Given the description of an element on the screen output the (x, y) to click on. 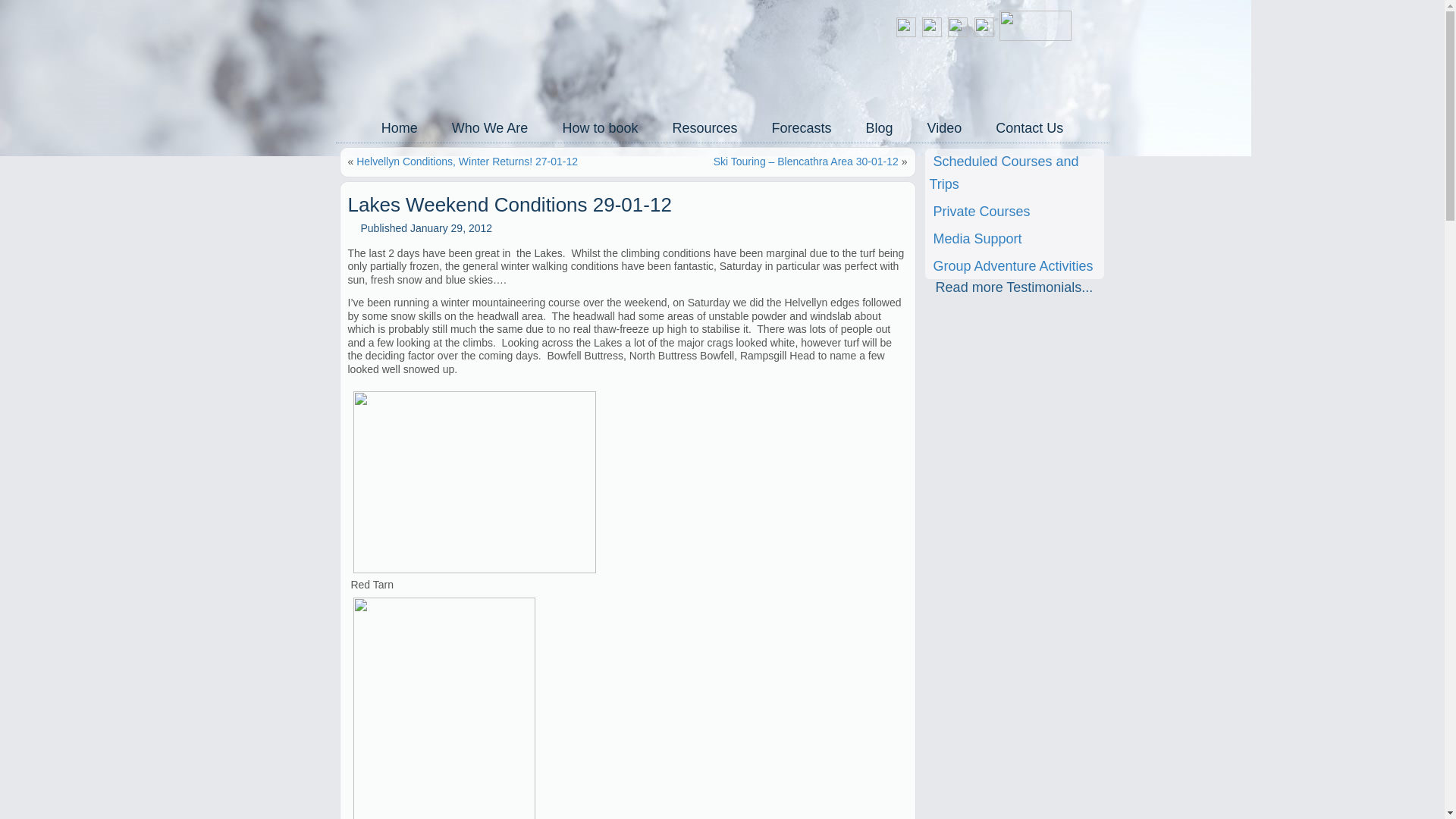
Forecasts (801, 127)
Blog (879, 127)
Who We Are (490, 127)
Forecasts (801, 127)
Scheduled Courses and Trips (1013, 172)
Blog (879, 127)
Contact Us (1028, 127)
Resources (704, 127)
How to book (599, 127)
Home (399, 127)
How to book (599, 127)
Contact Us (1028, 127)
Helvellyn Conditions, Winter Returns! 27-01-12 (467, 161)
Video (944, 127)
Home (399, 127)
